Given the description of an element on the screen output the (x, y) to click on. 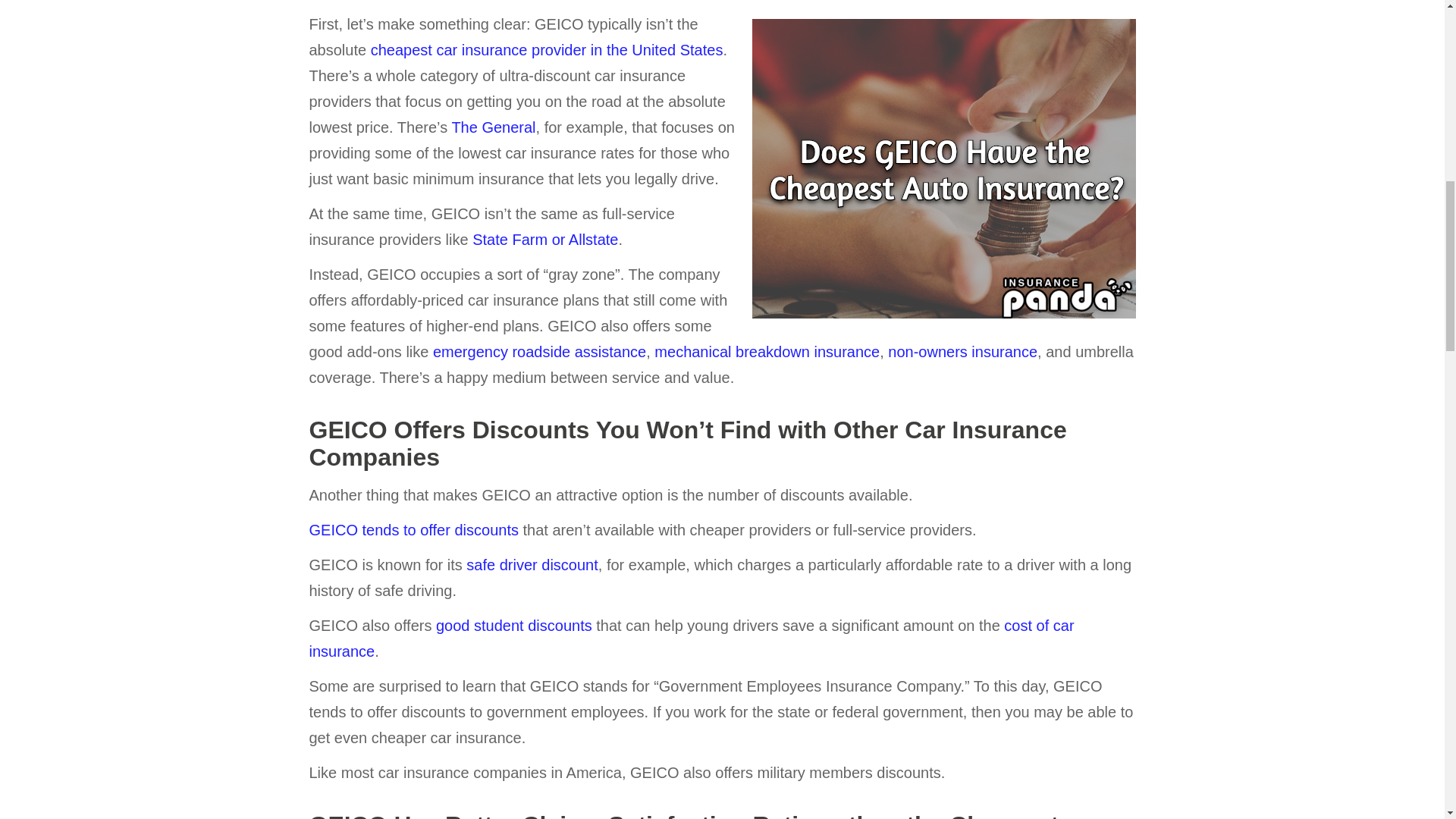
cost of car insurance (691, 638)
GEICO tends to offer discounts (413, 529)
mechanical breakdown insurance (766, 351)
non-owners insurance (962, 351)
cheapest car insurance provider in the United States (547, 49)
The General (493, 126)
State Farm or Allstate (544, 239)
emergency roadside assistance (539, 351)
good student discounts (513, 625)
safe driver discount (530, 564)
